Given the description of an element on the screen output the (x, y) to click on. 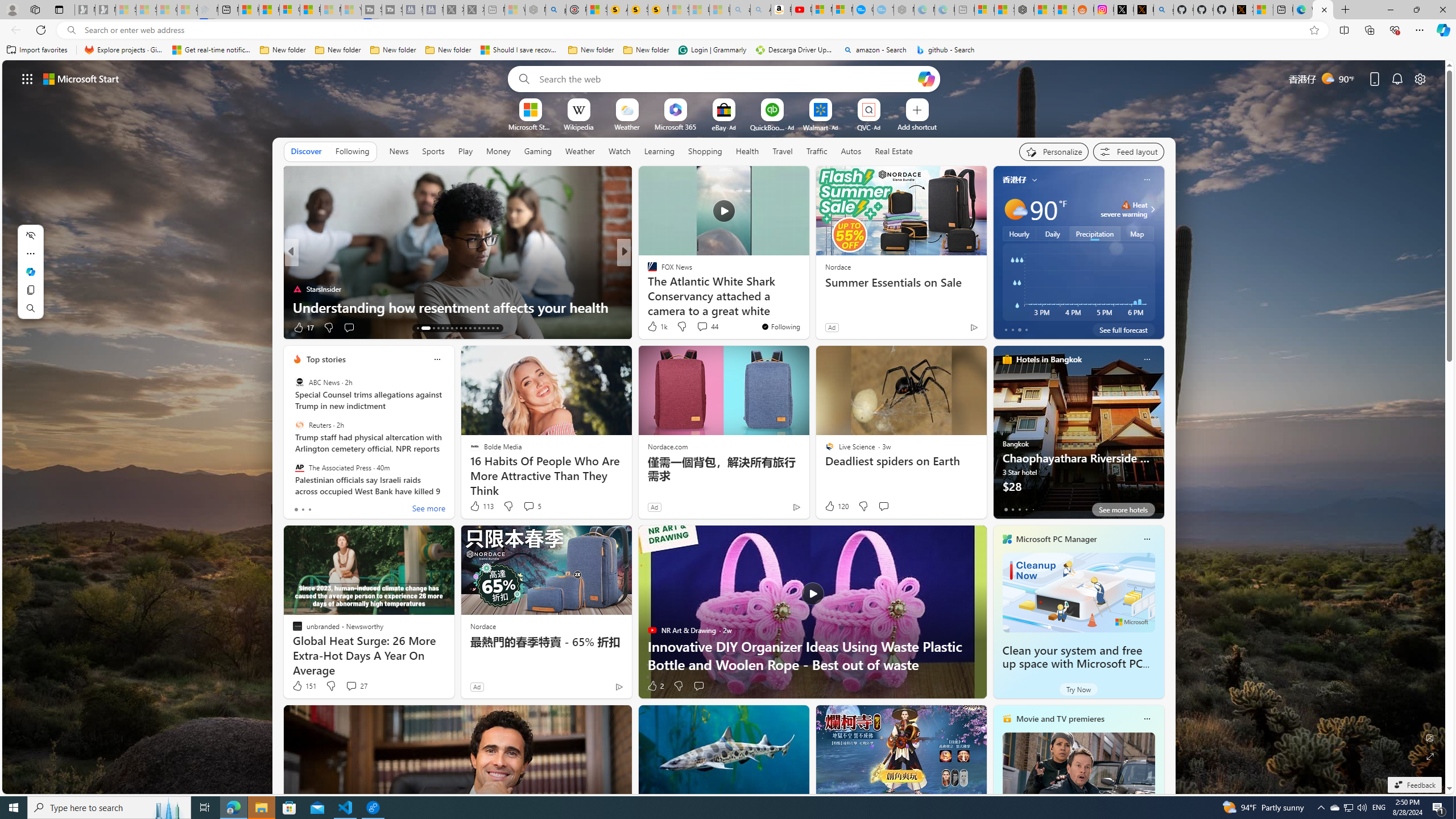
Ask Copilot (30, 271)
Overview (289, 9)
AutomationID: tab-14 (422, 328)
Fox Business (647, 288)
View comments 2 Comment (698, 327)
Watch (619, 151)
Welcome to Microsoft Edge (1302, 9)
Microsoft start (81, 78)
128 Like (654, 327)
To get missing image descriptions, open the context menu. (529, 109)
CNN (647, 270)
Heat - Severe (1126, 204)
Movie and TV premieres (1060, 718)
